Given the description of an element on the screen output the (x, y) to click on. 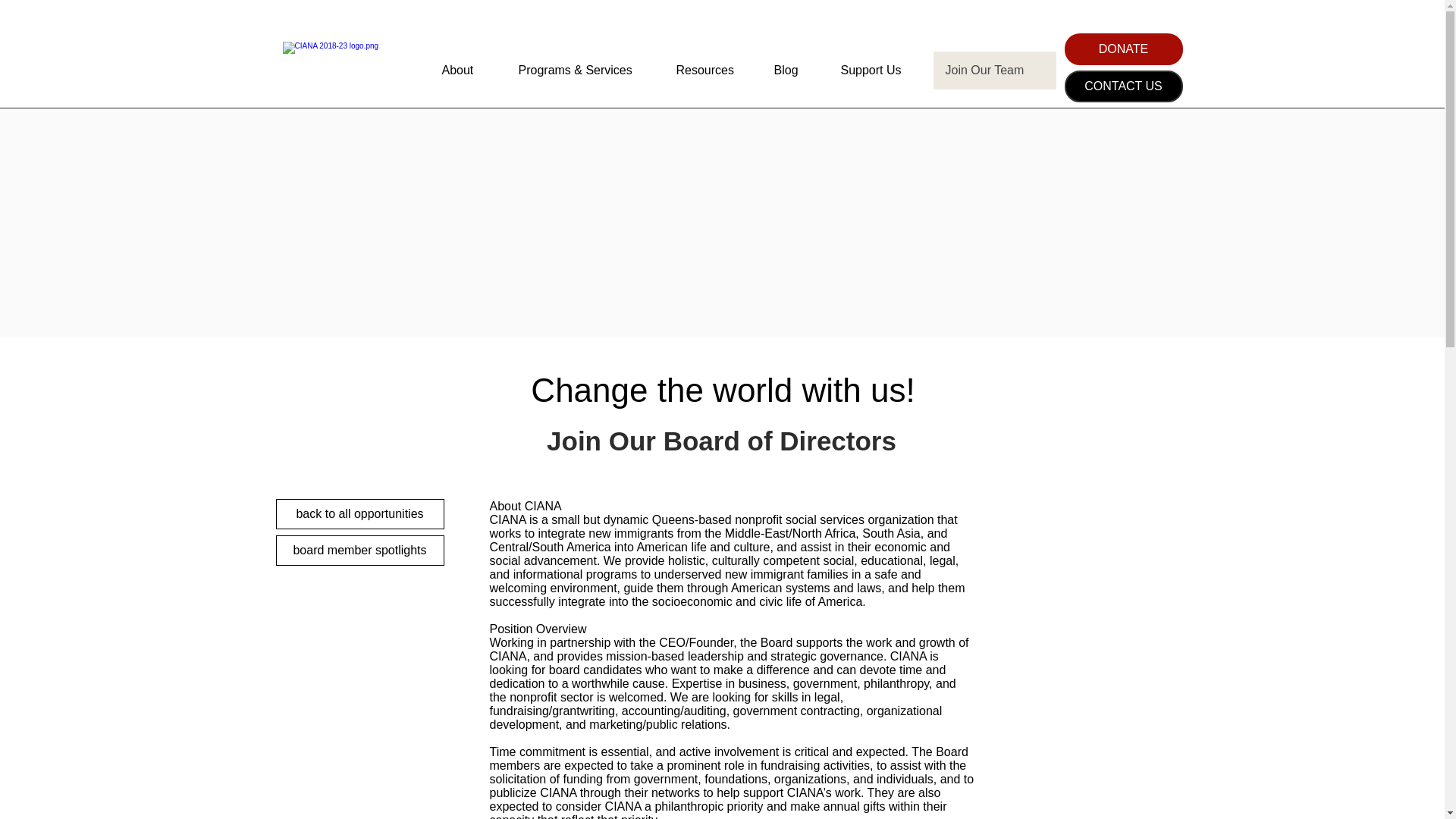
Support Us (880, 70)
CONTACT US (1123, 86)
DONATE (1123, 49)
About (468, 70)
board member spotlights (360, 550)
Blog (794, 70)
back to all opportunities (360, 513)
Join Our Team (994, 70)
Resources (712, 70)
